Given the description of an element on the screen output the (x, y) to click on. 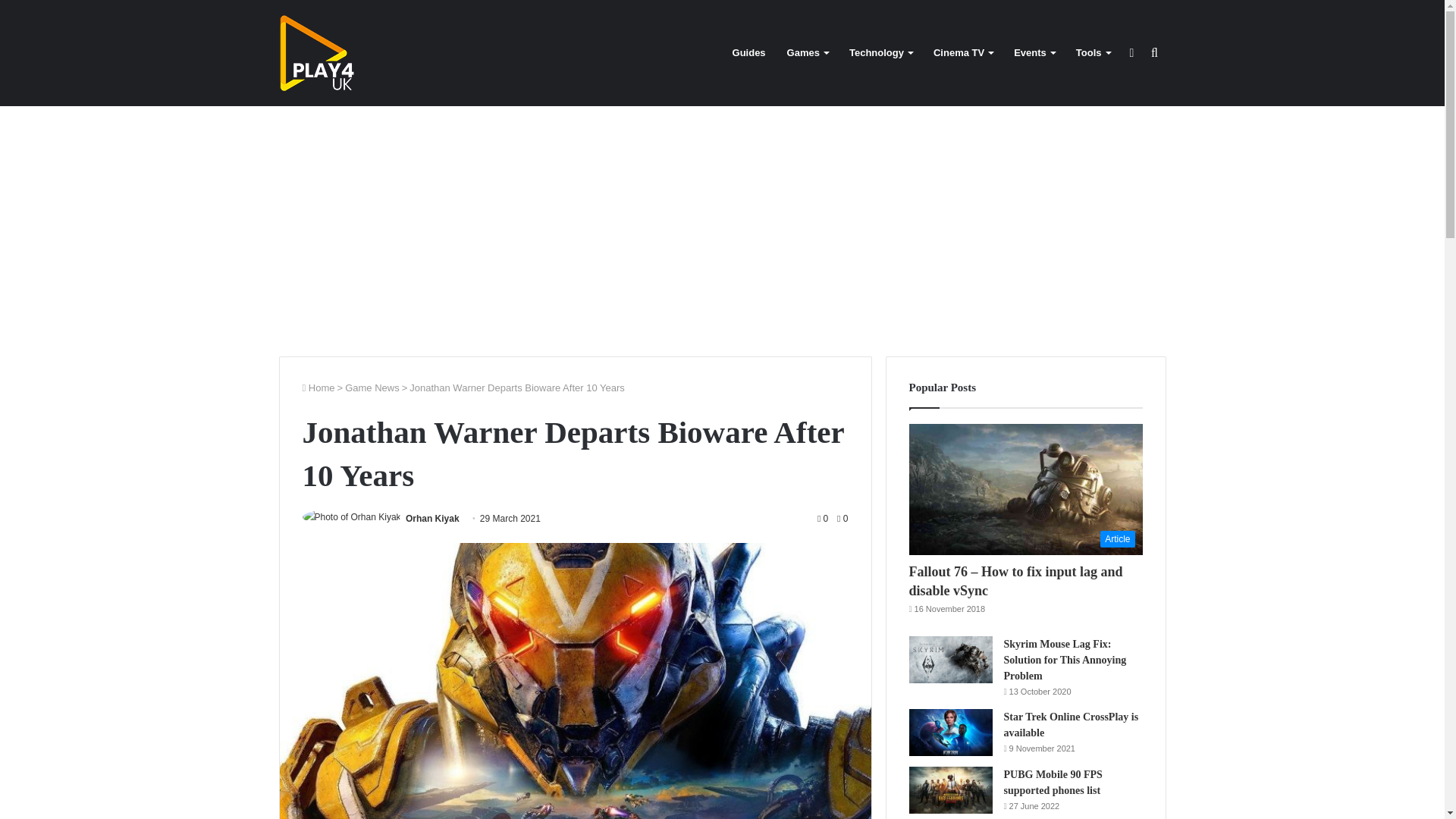
PLAY4UK (317, 52)
Game News (371, 387)
Orhan Kiyak (433, 518)
Home (317, 387)
Orhan Kiyak (433, 518)
